Given the description of an element on the screen output the (x, y) to click on. 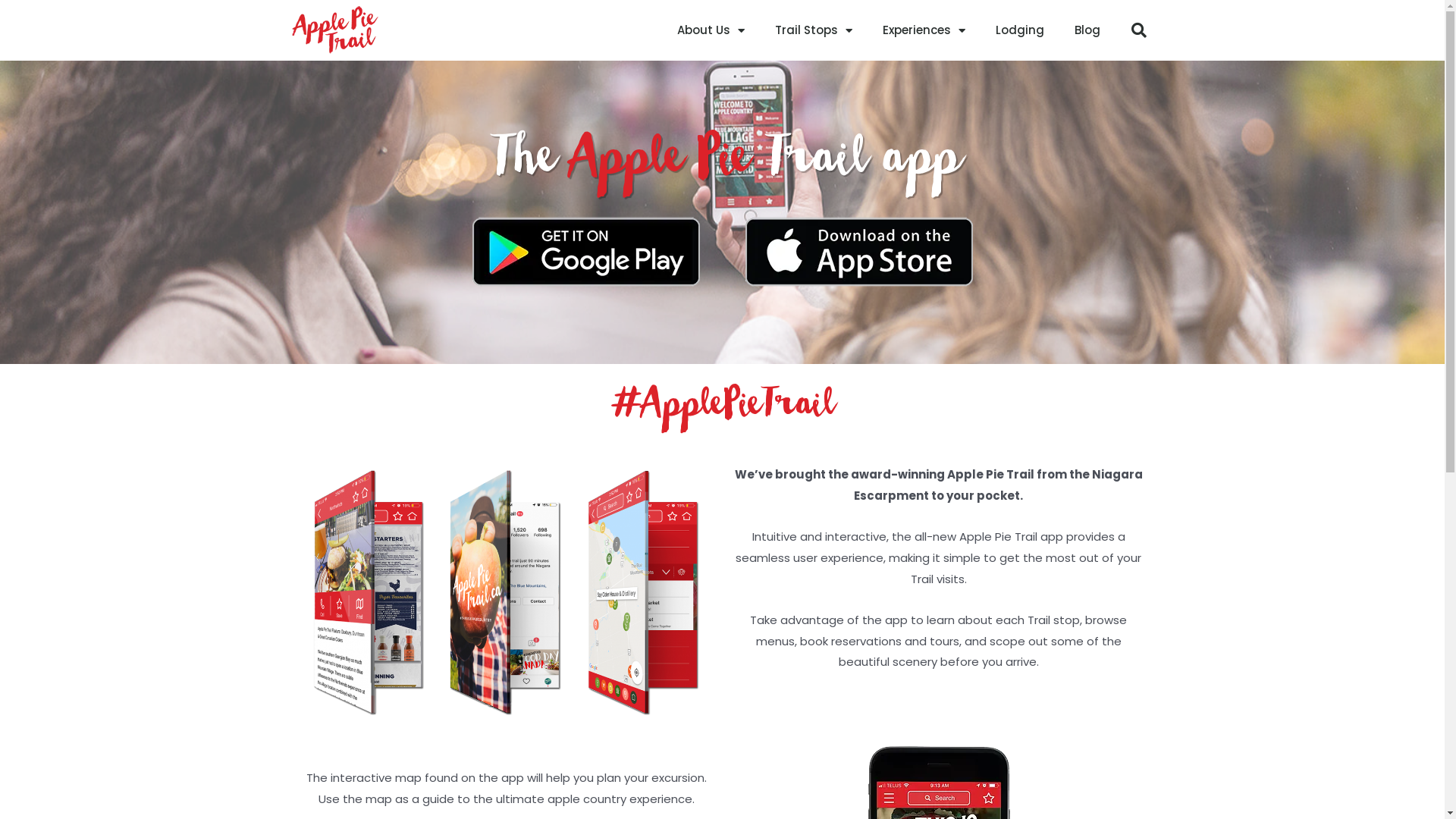
Experiences Element type: text (923, 30)
Trail Stops Element type: text (813, 30)
About Us Element type: text (710, 30)
Blog Element type: text (1086, 30)
Lodging Element type: text (1018, 30)
